Given the description of an element on the screen output the (x, y) to click on. 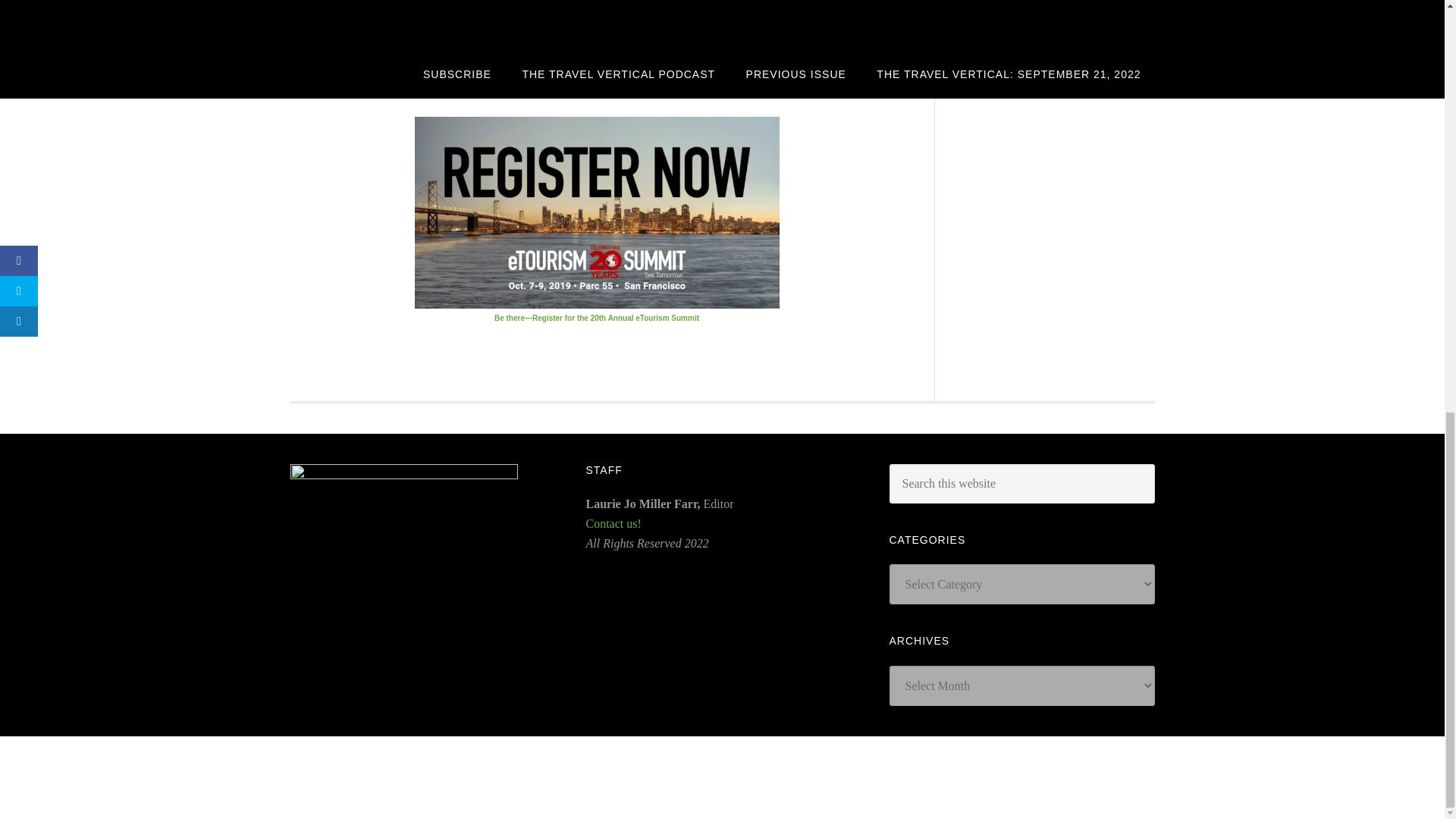
more buzz here (547, 53)
Contact us! (612, 522)
